Given the description of an element on the screen output the (x, y) to click on. 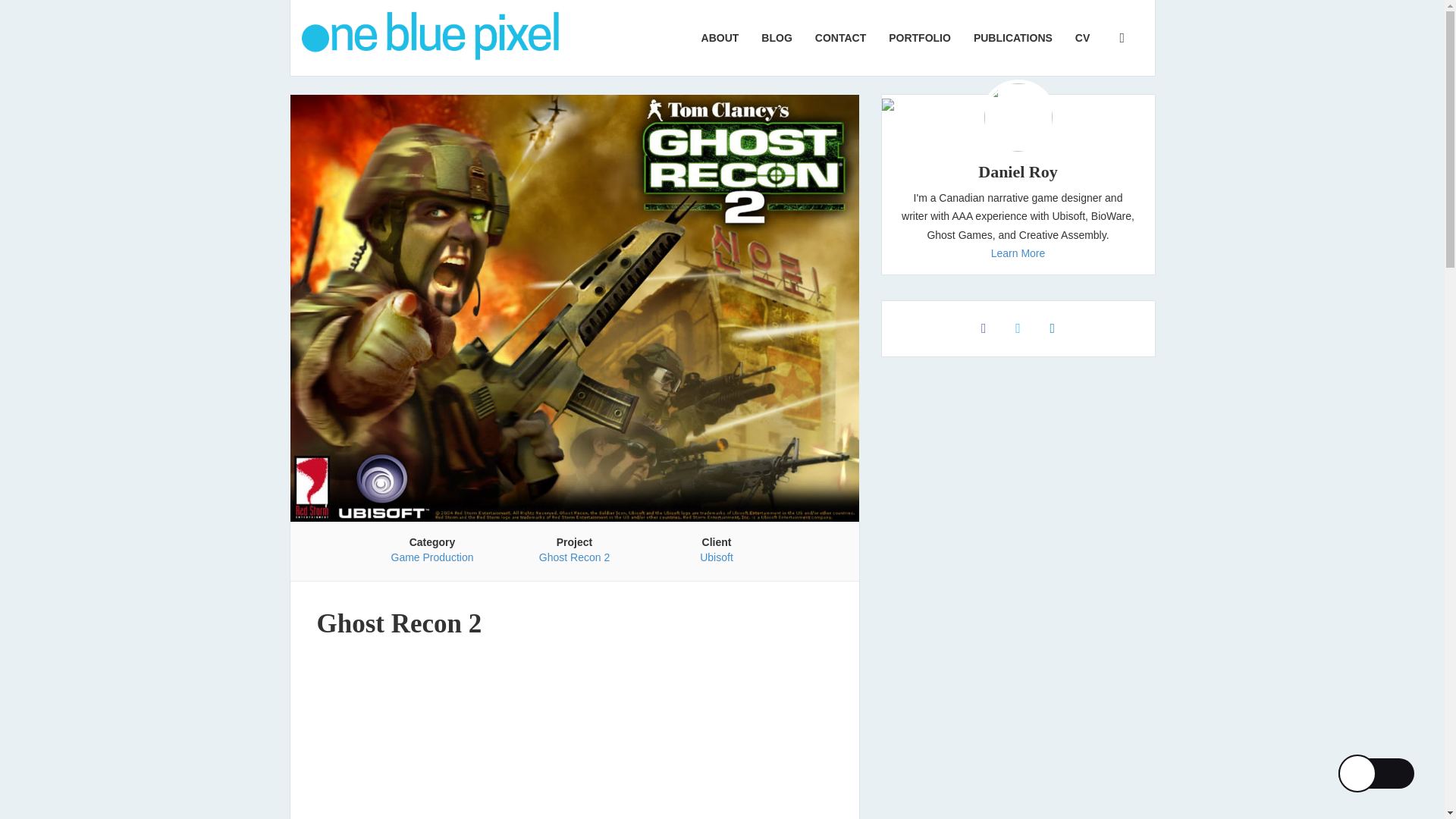
Game Production (432, 557)
Ubisoft (716, 557)
Ghost Recon 2 (574, 557)
PUBLICATIONS (1013, 38)
Learn More (1018, 253)
Contact (840, 38)
Portfolio (919, 38)
PORTFOLIO (919, 38)
CONTACT (840, 38)
Publications (1013, 38)
One Blue Pixel (429, 38)
